Given the description of an element on the screen output the (x, y) to click on. 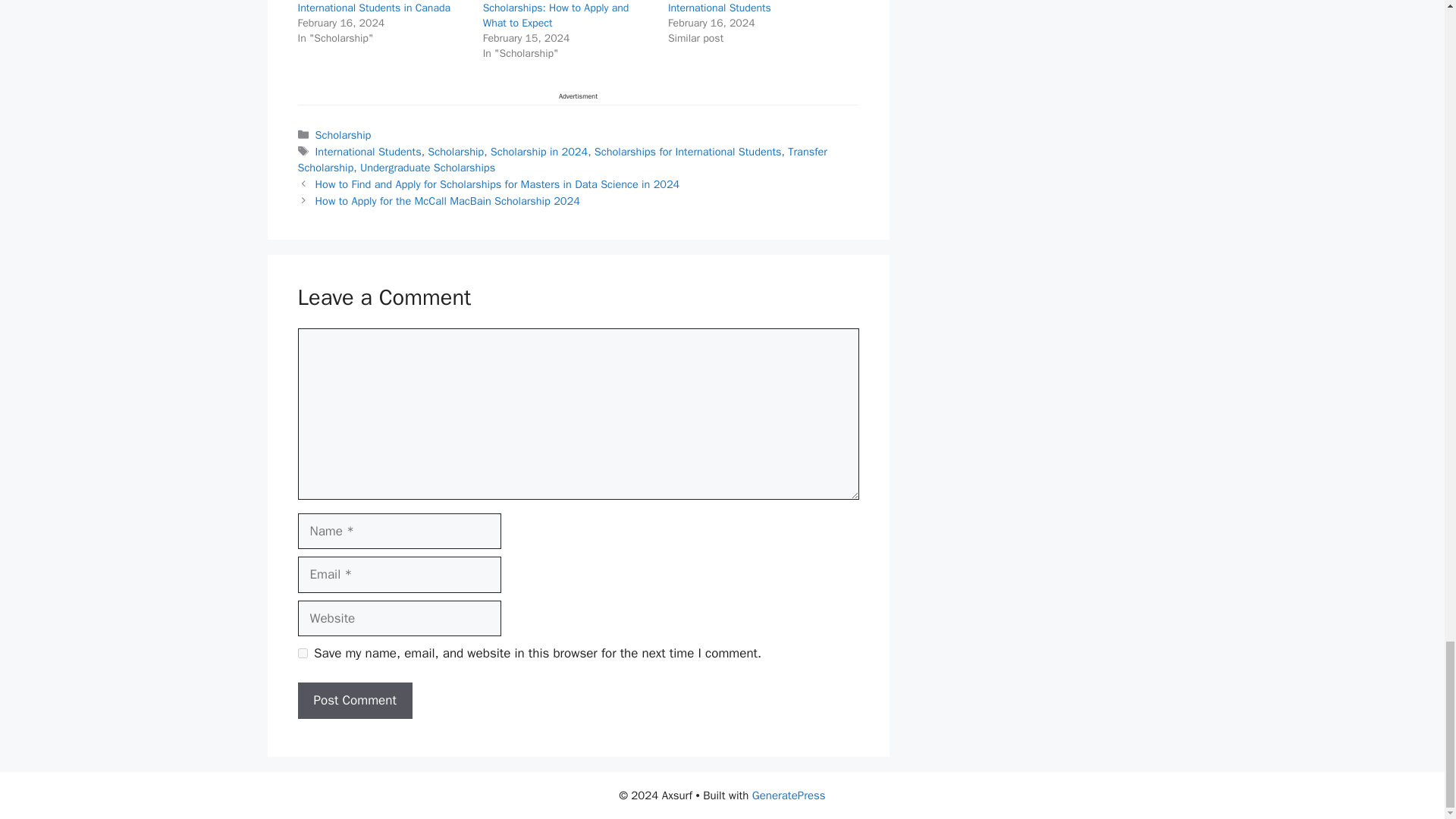
Transfer Scholarship (562, 159)
Undergraduate Scholarships (427, 167)
List of Scholarships for International Students in Canada (373, 7)
Scholarship (343, 134)
How to Apply for the McCall MacBain Scholarship 2024 (447, 201)
Scholarship (455, 151)
Post Comment (354, 700)
GeneratePress (788, 795)
10 Best Rugby Scholarships for International Students (740, 7)
Post Comment (354, 700)
yes (302, 653)
International Students (368, 151)
